Given the description of an element on the screen output the (x, y) to click on. 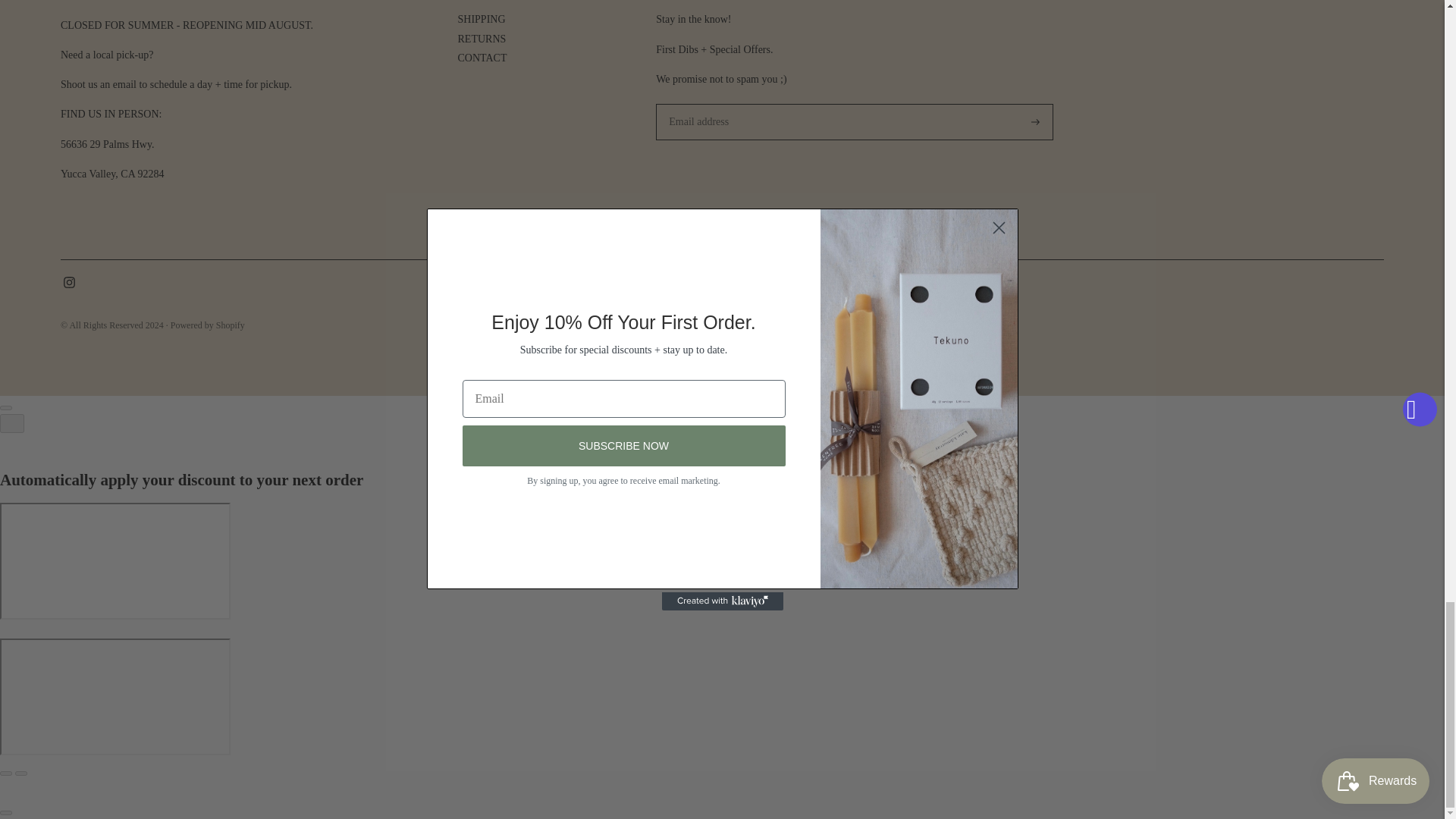
LESSEN SPACE on Instagram (69, 284)
